Given the description of an element on the screen output the (x, y) to click on. 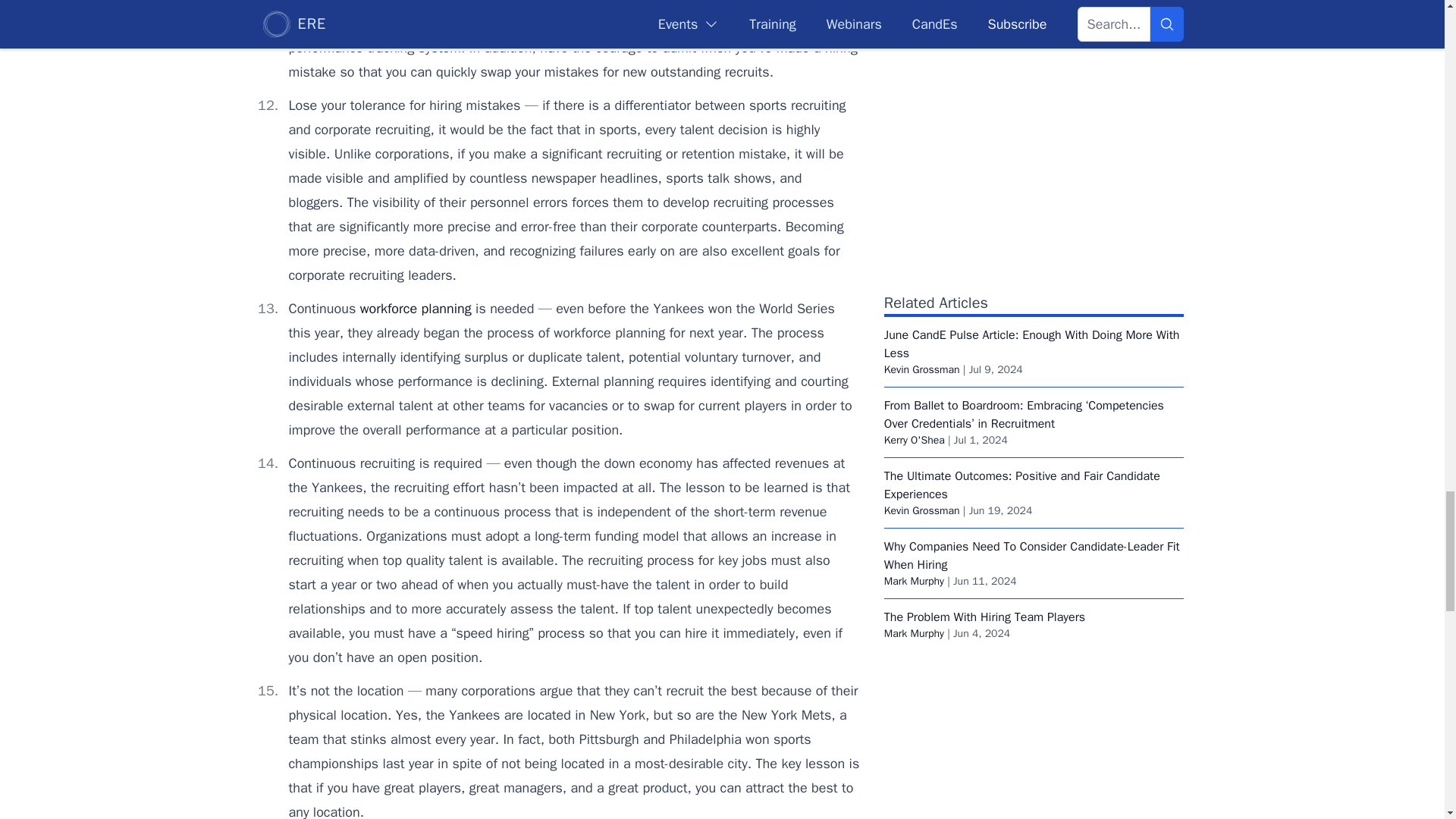
Mark Murphy (913, 581)
The Problem With Hiring Team Players (983, 616)
Mark Murphy (913, 633)
June CandE Pulse Article: Enough With Doing More With Less (1031, 344)
workforce planning (415, 308)
Kerry O'Shea (913, 440)
Kevin Grossman (921, 369)
Kevin Grossman (921, 510)
